Given the description of an element on the screen output the (x, y) to click on. 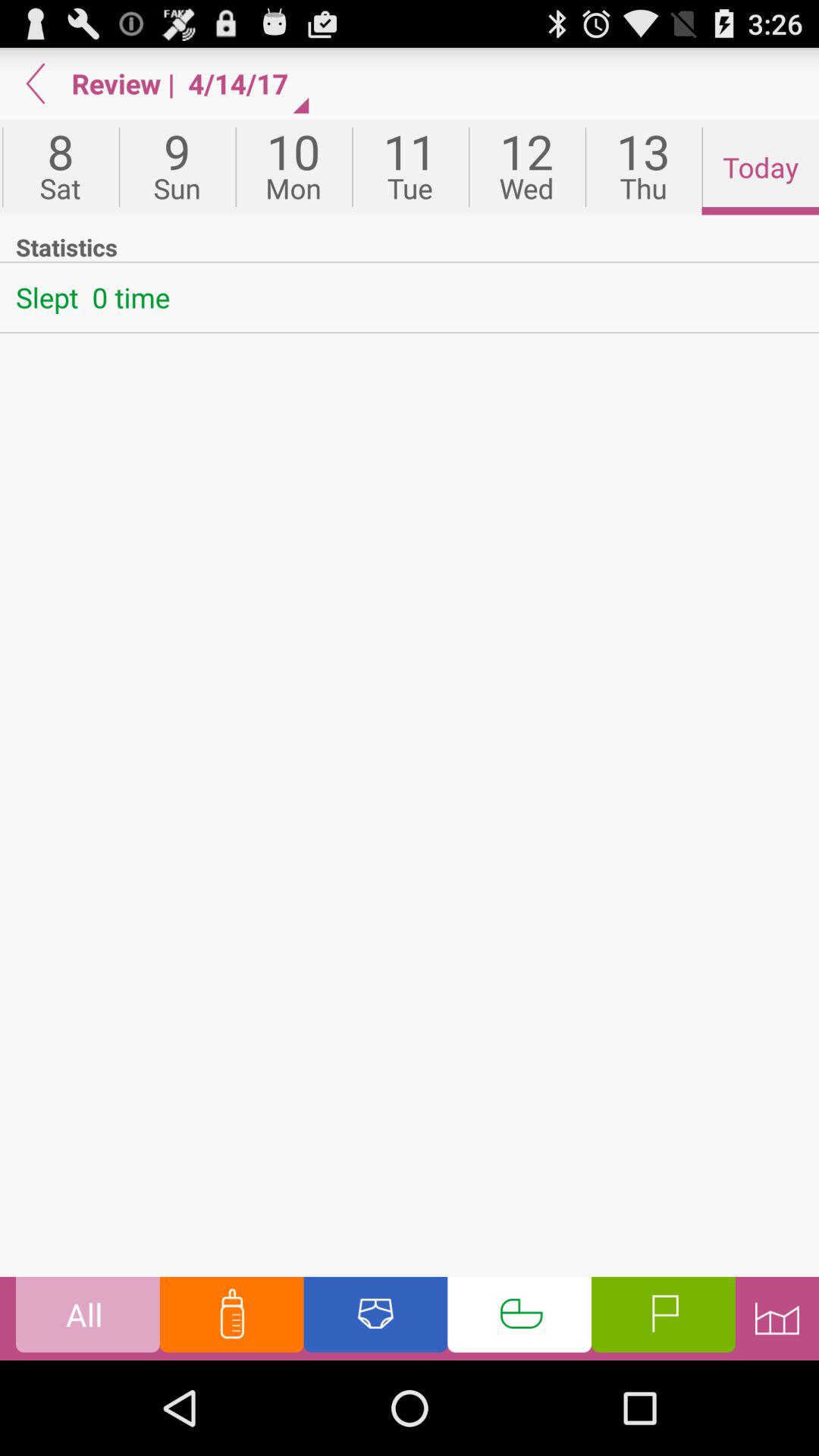
open the item above 7 icon (35, 83)
